Given the description of an element on the screen output the (x, y) to click on. 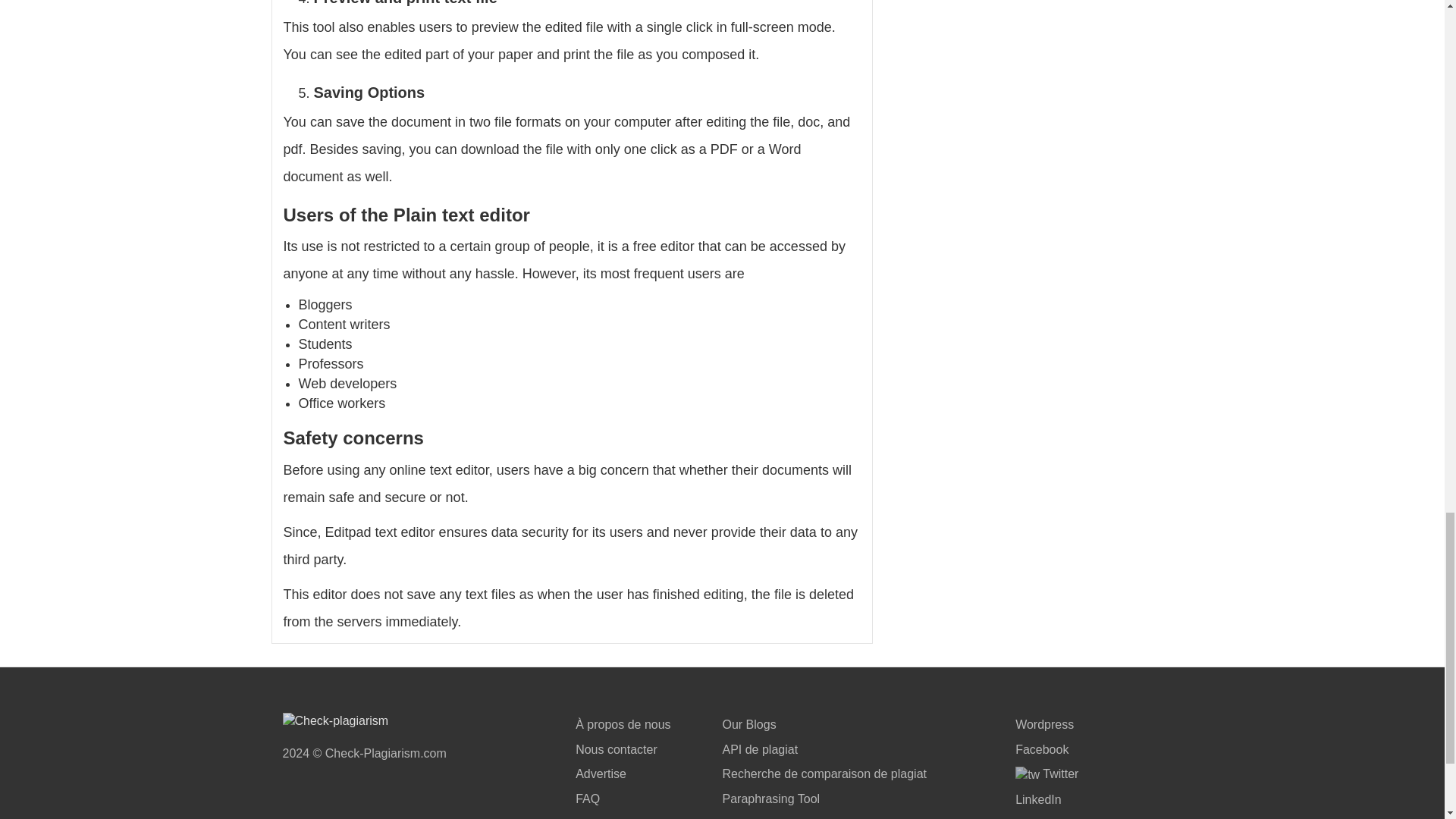
Twitter (1046, 773)
Facebook (1041, 748)
Wordpress (1044, 724)
LinkedIn (1037, 799)
